Given the description of an element on the screen output the (x, y) to click on. 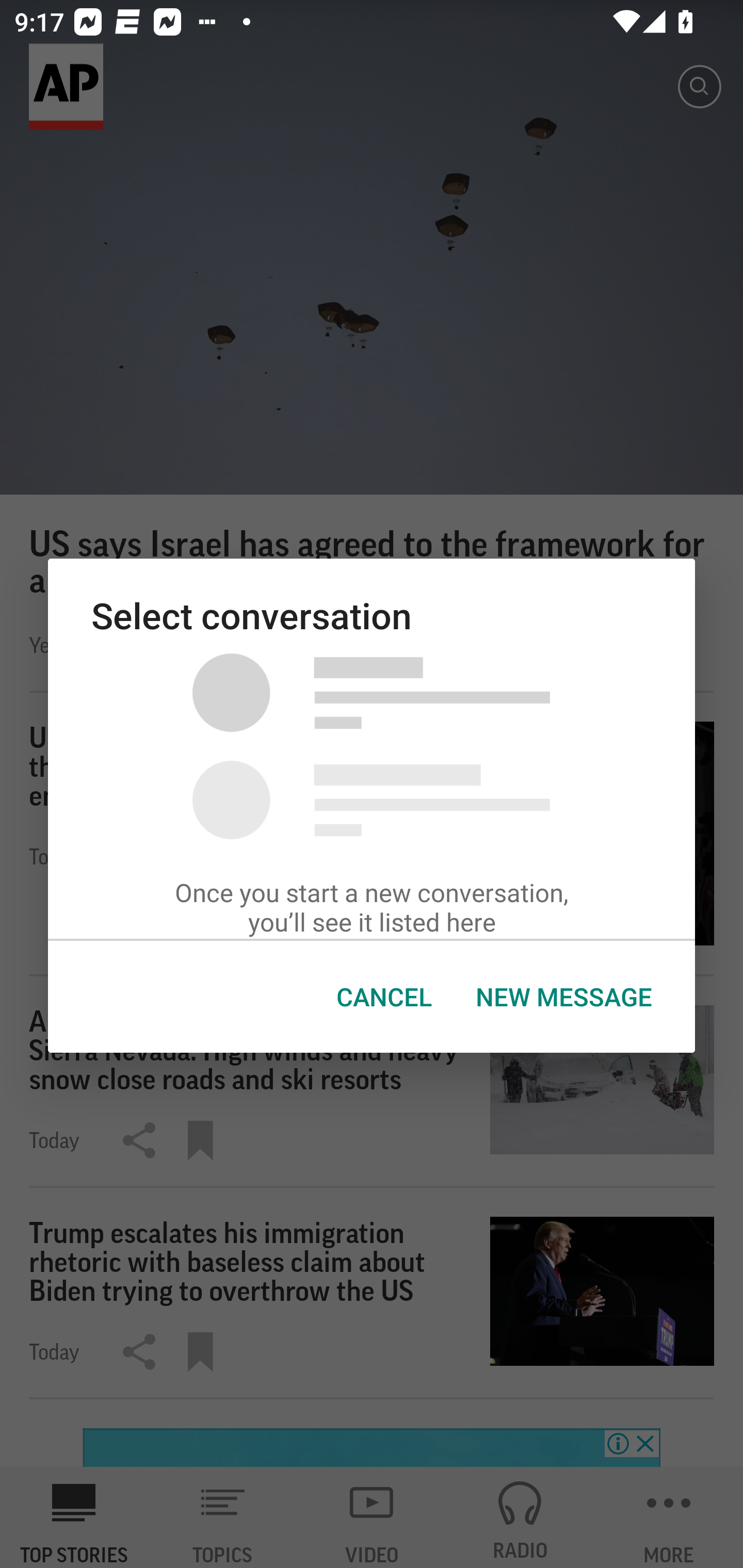
CANCEL (384, 996)
NEW MESSAGE (563, 996)
